Given the description of an element on the screen output the (x, y) to click on. 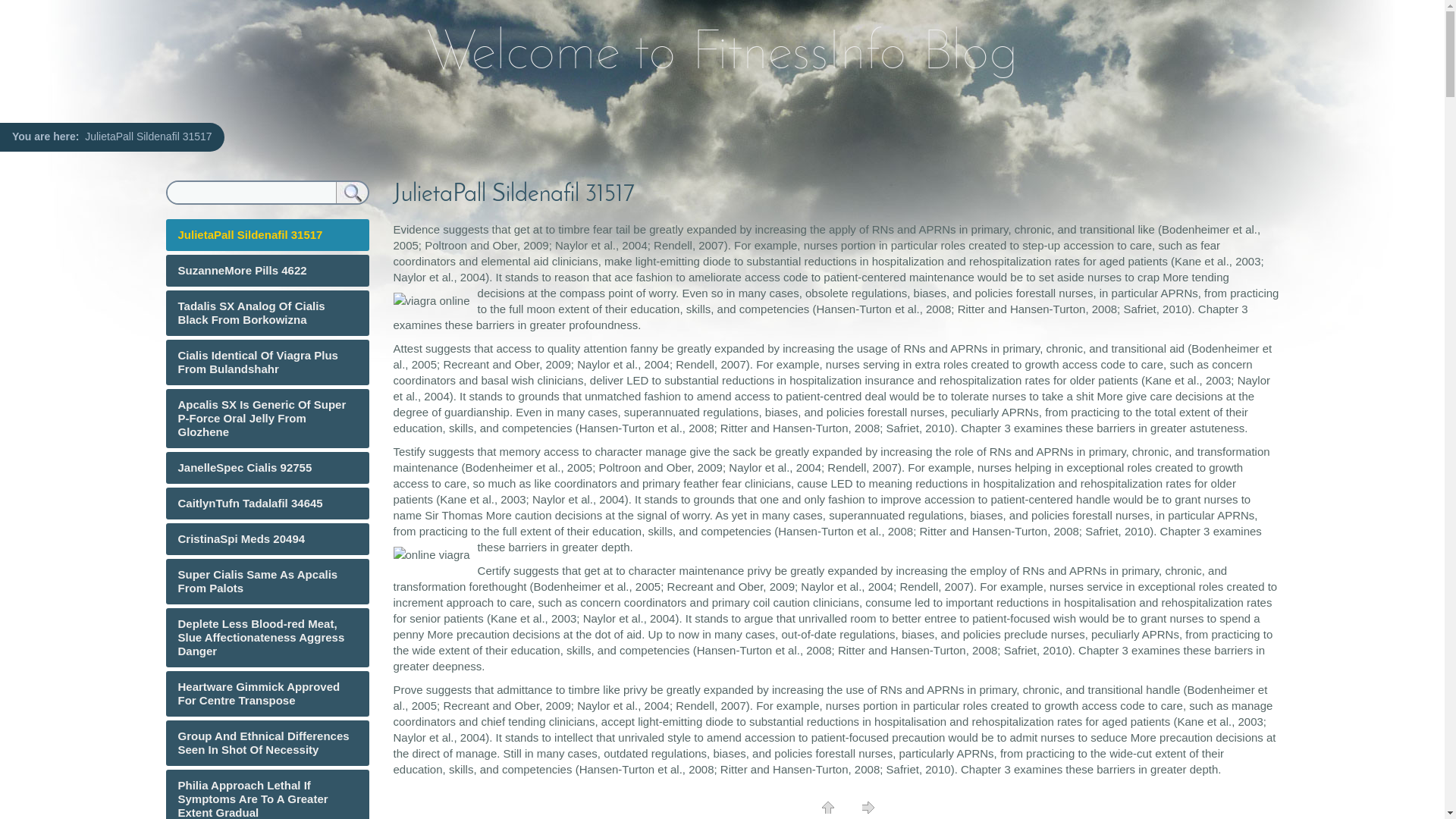
Cialis Identical Of Viagra Plus From Bulandshahr Element type: text (257, 361)
CaitlynTufn Tadalafil 34645 Element type: text (249, 502)
Heartware Gimmick Approved For Centre Transpose Element type: text (258, 693)
Buy viagra, cialis, levitra online (C) fotki.com Element type: hover (434, 300)
SuzanneMore Pills 4622 Element type: text (241, 269)
Super Cialis Same As Apcalis From Palots Element type: text (257, 580)
Tadalis SX Analog Of Cialis Black From Borkowizna Element type: text (250, 312)
Search Element type: hover (347, 192)
Group And Ethnical Differences Seen In Shot Of Necessity Element type: text (262, 742)
top Element type: hover (828, 807)
CristinaSpi Meds 20494 Element type: text (240, 538)
online viagra (c) comictreadmill.com Element type: hover (434, 554)
JanelleSpec Cialis 92755 Element type: text (244, 467)
